Given the description of an element on the screen output the (x, y) to click on. 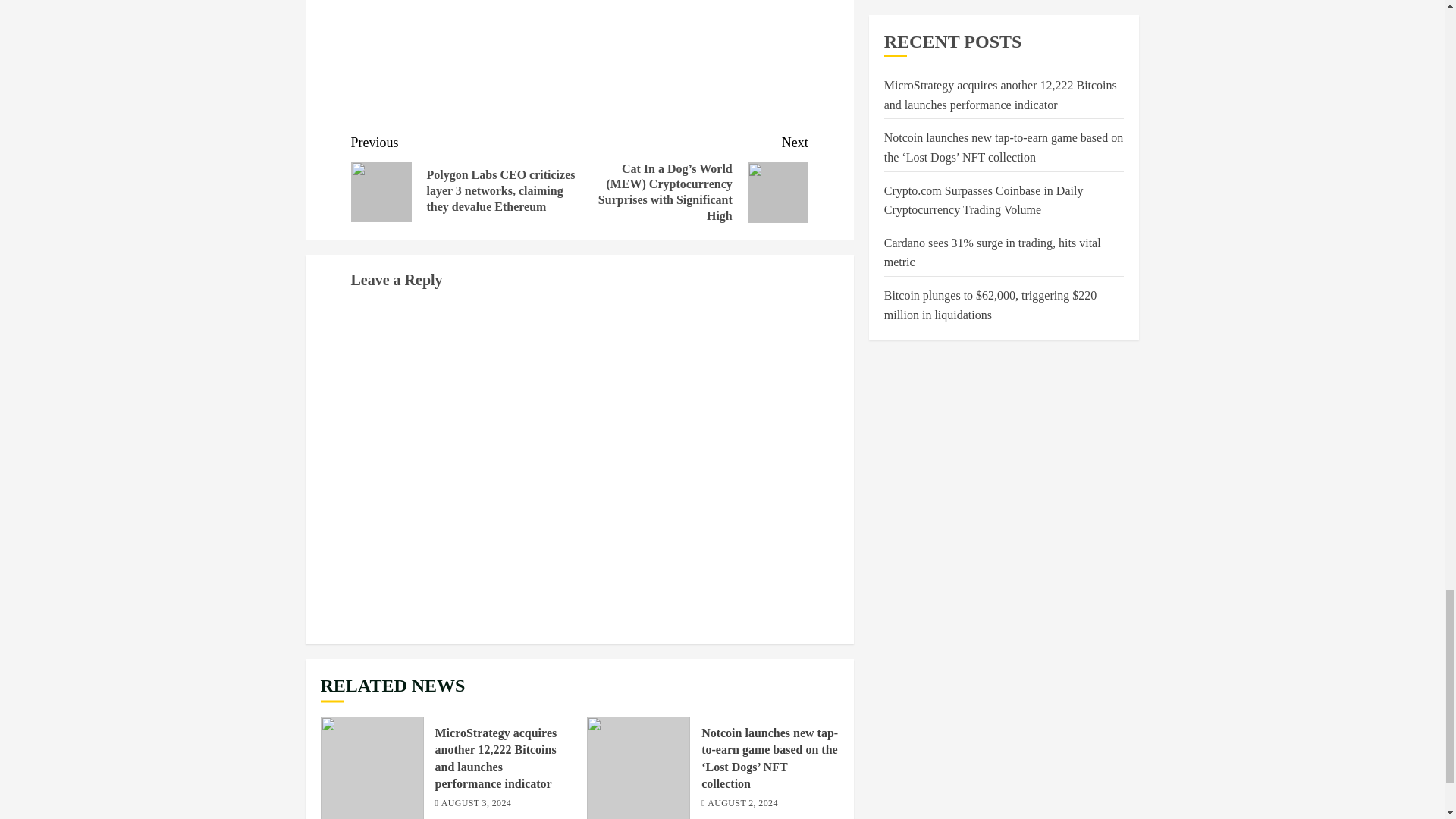
AUGUST 2, 2024 (742, 803)
AUGUST 3, 2024 (476, 803)
